Given the description of an element on the screen output the (x, y) to click on. 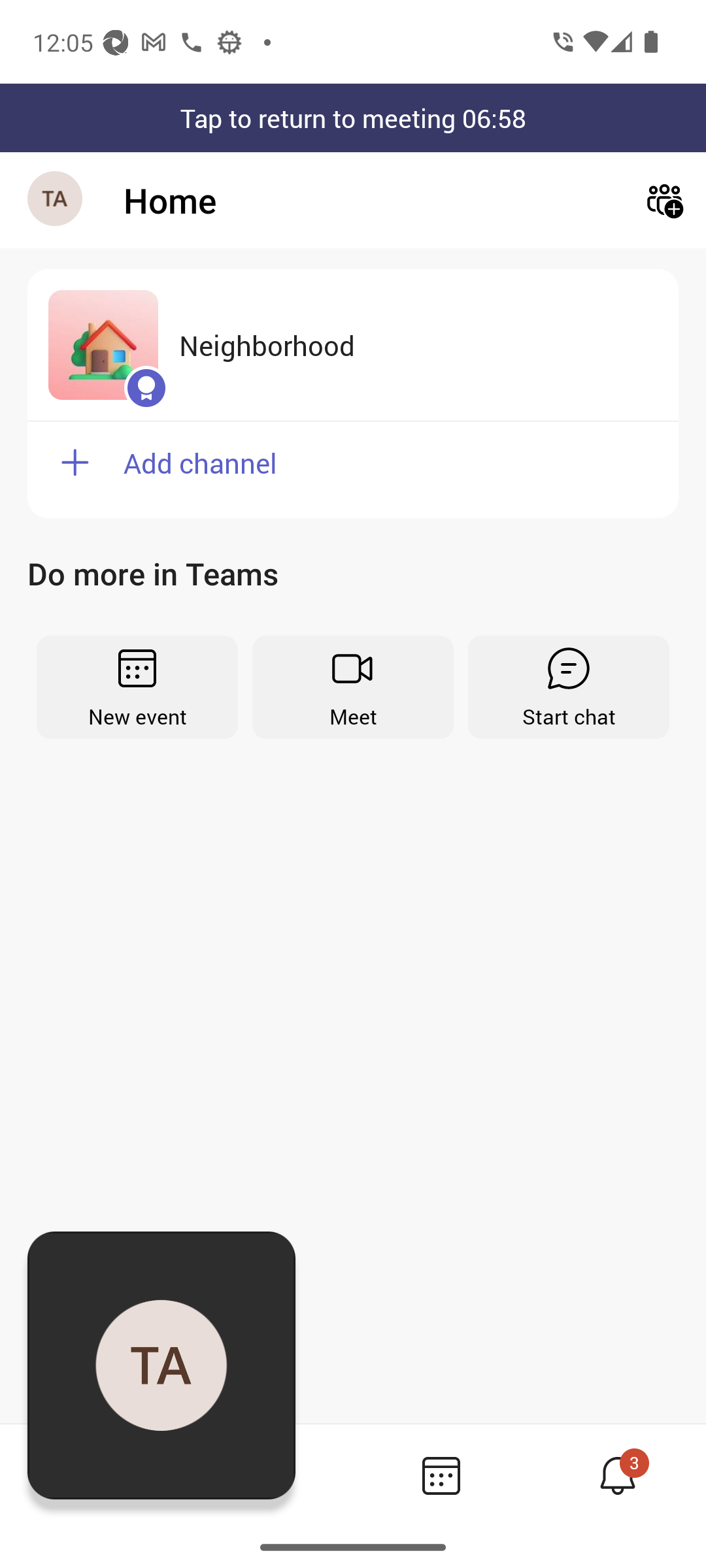
Tap to return to meeting 06:58 (353, 117)
Create new community (664, 199)
Navigation (56, 199)
Neighborhood Community. Neighborhood (352, 345)
New event (136, 686)
Meet (352, 686)
Start chat (568, 686)
Calendar tab,3 of 4, not selected (441, 1475)
Activity tab,4 of 4, not selected, 3 new 3 (617, 1475)
